Given the description of an element on the screen output the (x, y) to click on. 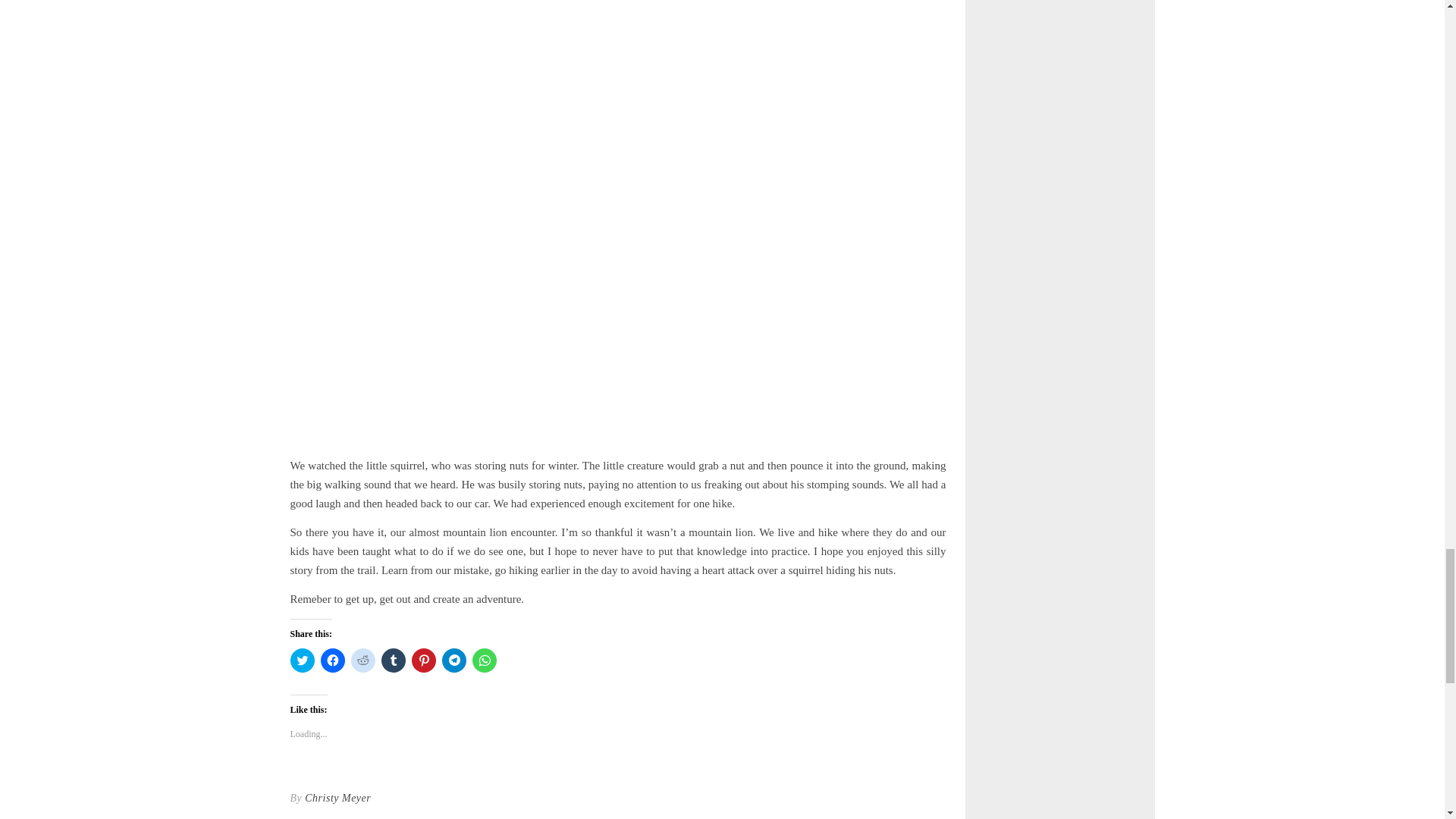
Posts by Christy Meyer (337, 798)
Click to share on Telegram (453, 660)
Click to share on Twitter (301, 660)
Click to share on Reddit (362, 660)
Click to share on WhatsApp (483, 660)
Click to share on Facebook (331, 660)
Christy Meyer (337, 798)
Click to share on Pinterest (422, 660)
Click to share on Tumblr (392, 660)
